Given the description of an element on the screen output the (x, y) to click on. 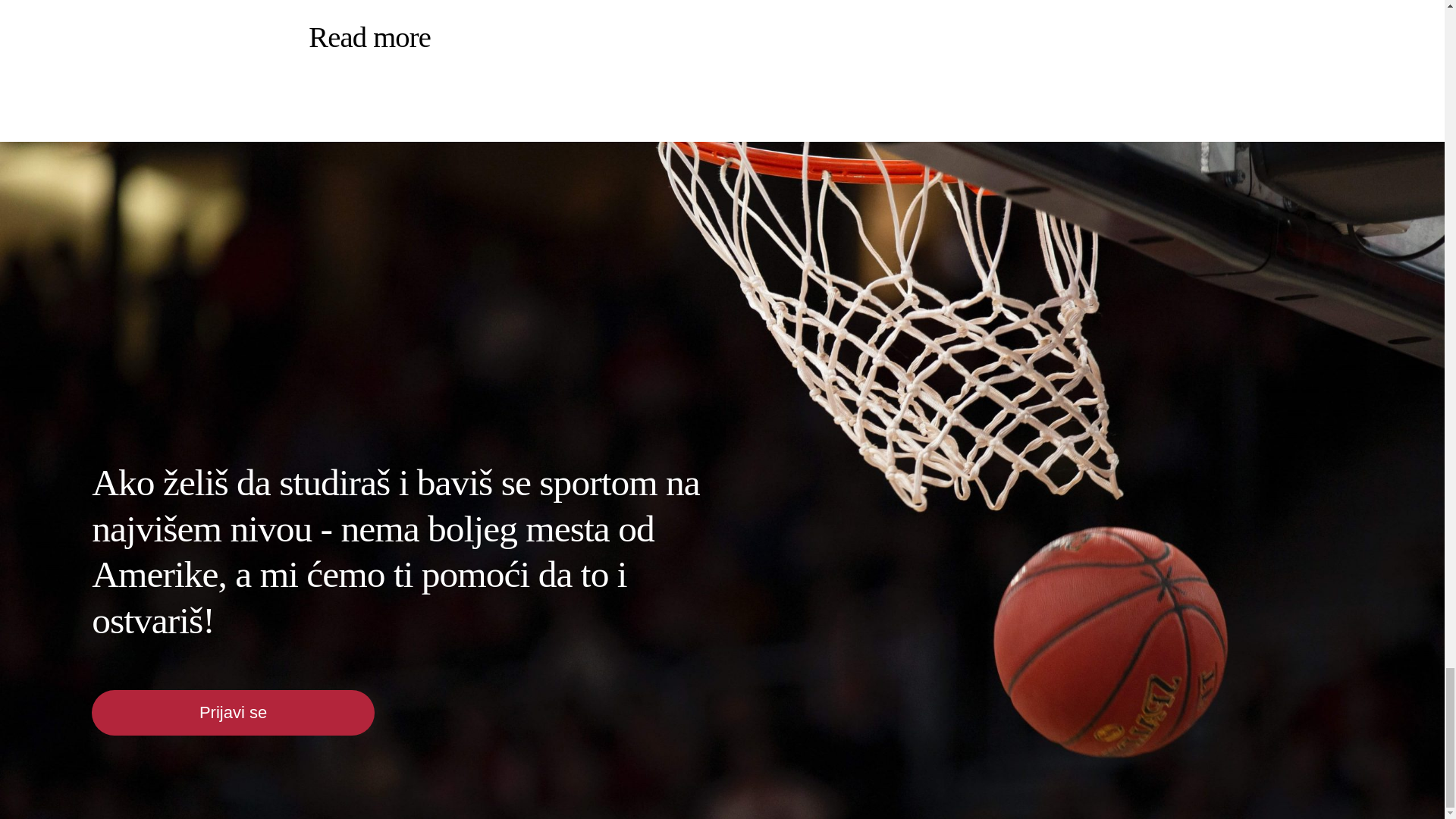
Prijavi se (232, 713)
